Given the description of an element on the screen output the (x, y) to click on. 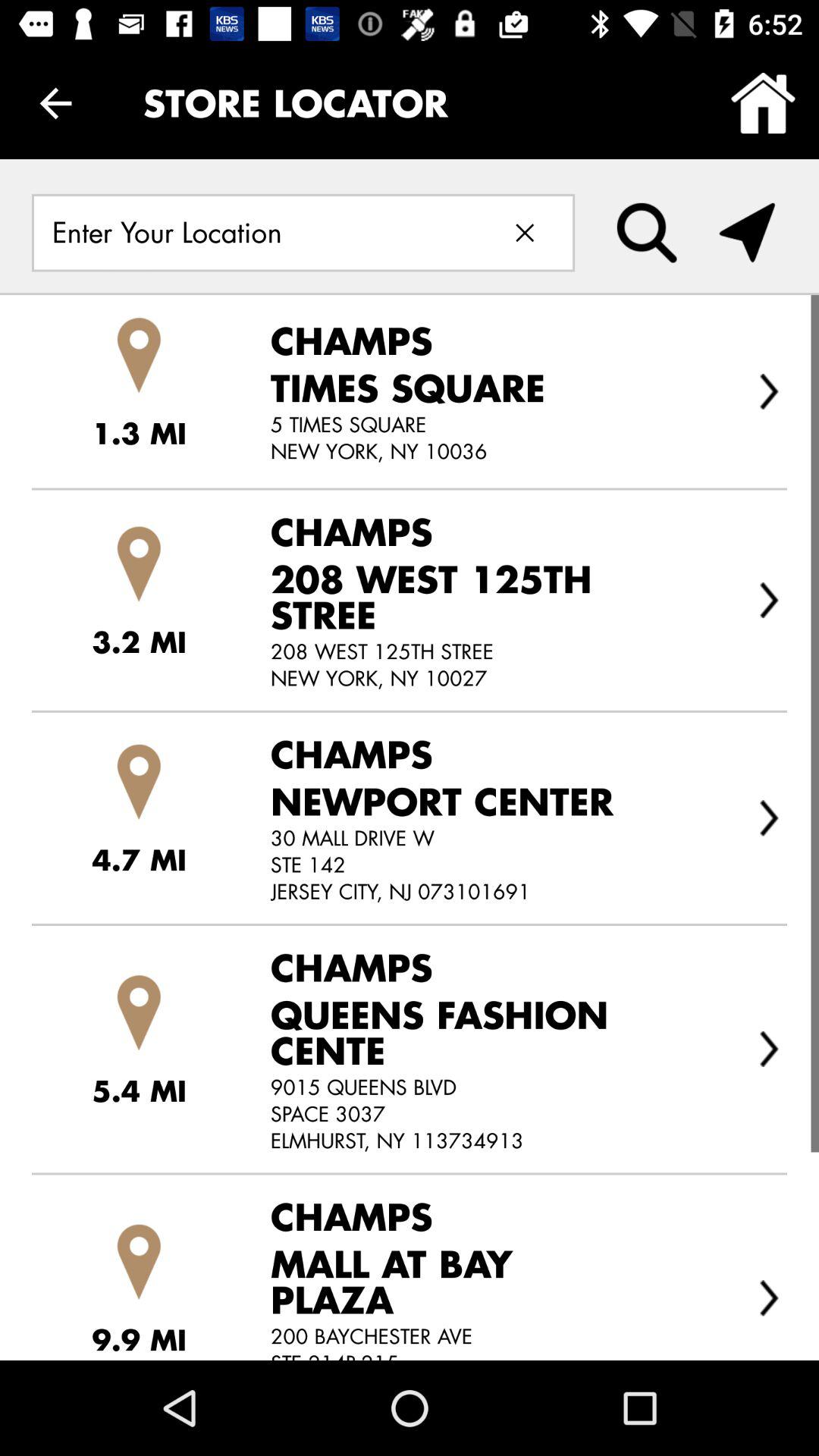
turn on the location settings (746, 232)
